Given the description of an element on the screen output the (x, y) to click on. 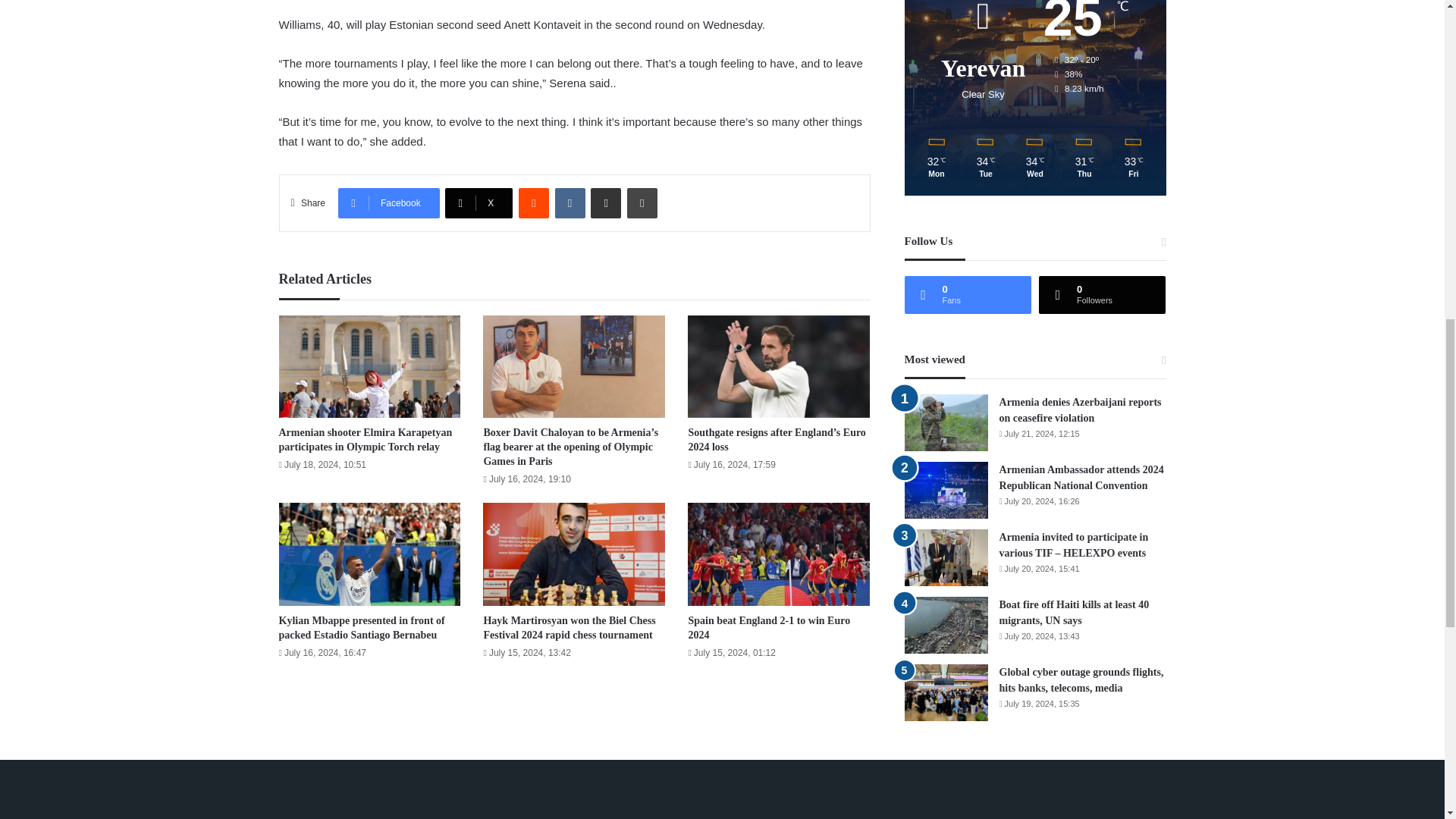
X (478, 203)
Facebook (388, 203)
Reddit (533, 203)
Print (642, 203)
Share via Email (606, 203)
Facebook (388, 203)
VKontakte (569, 203)
